Given the description of an element on the screen output the (x, y) to click on. 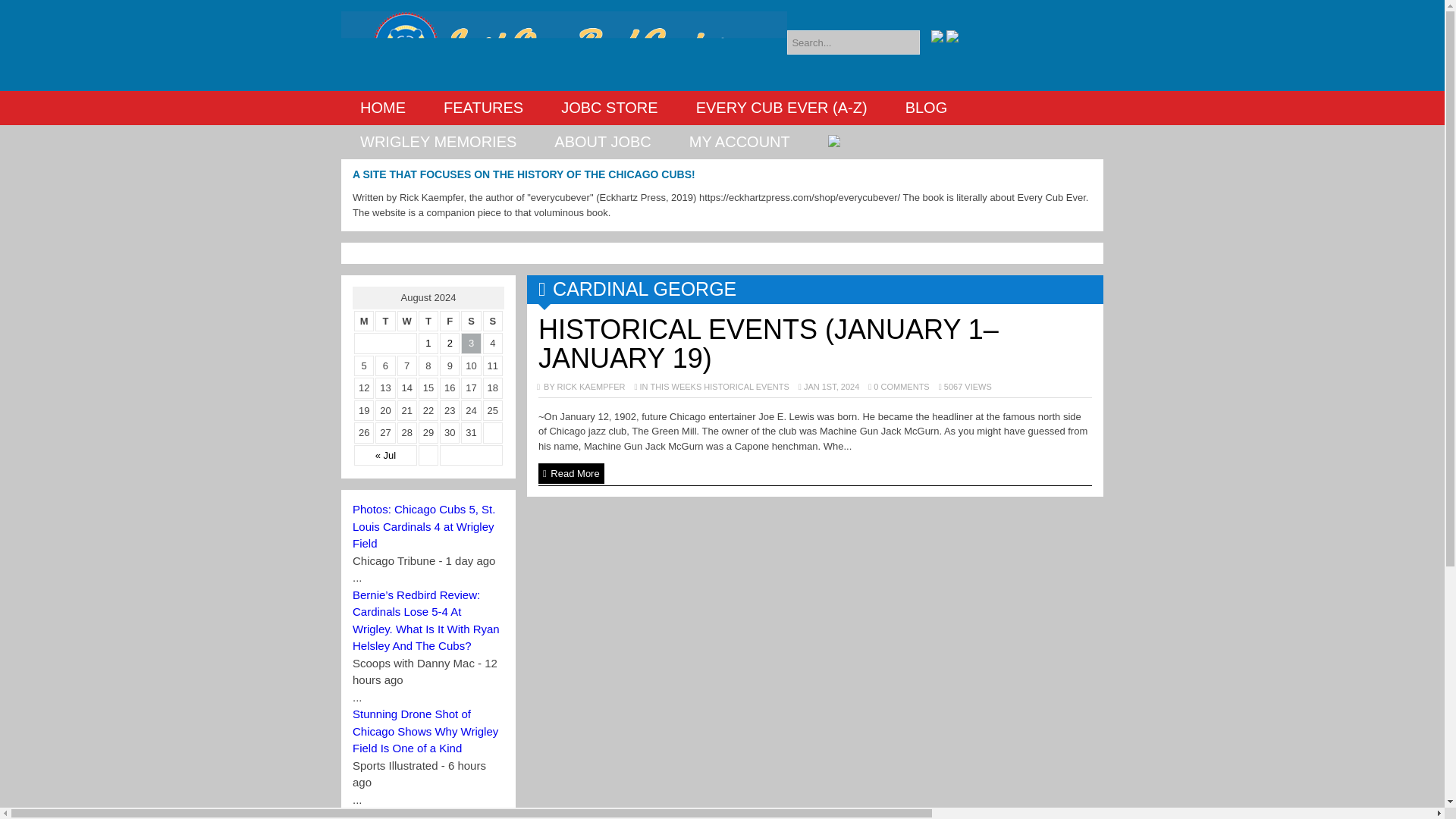
Friday (449, 321)
Sunday (492, 321)
Search... (853, 42)
Monday (363, 321)
Wednesday (406, 321)
Tuesday (384, 321)
BLOG (926, 107)
HOME (382, 107)
JOBC STORE (609, 107)
FEATURES (483, 107)
Saturday (470, 321)
Thursday (428, 321)
